Given the description of an element on the screen output the (x, y) to click on. 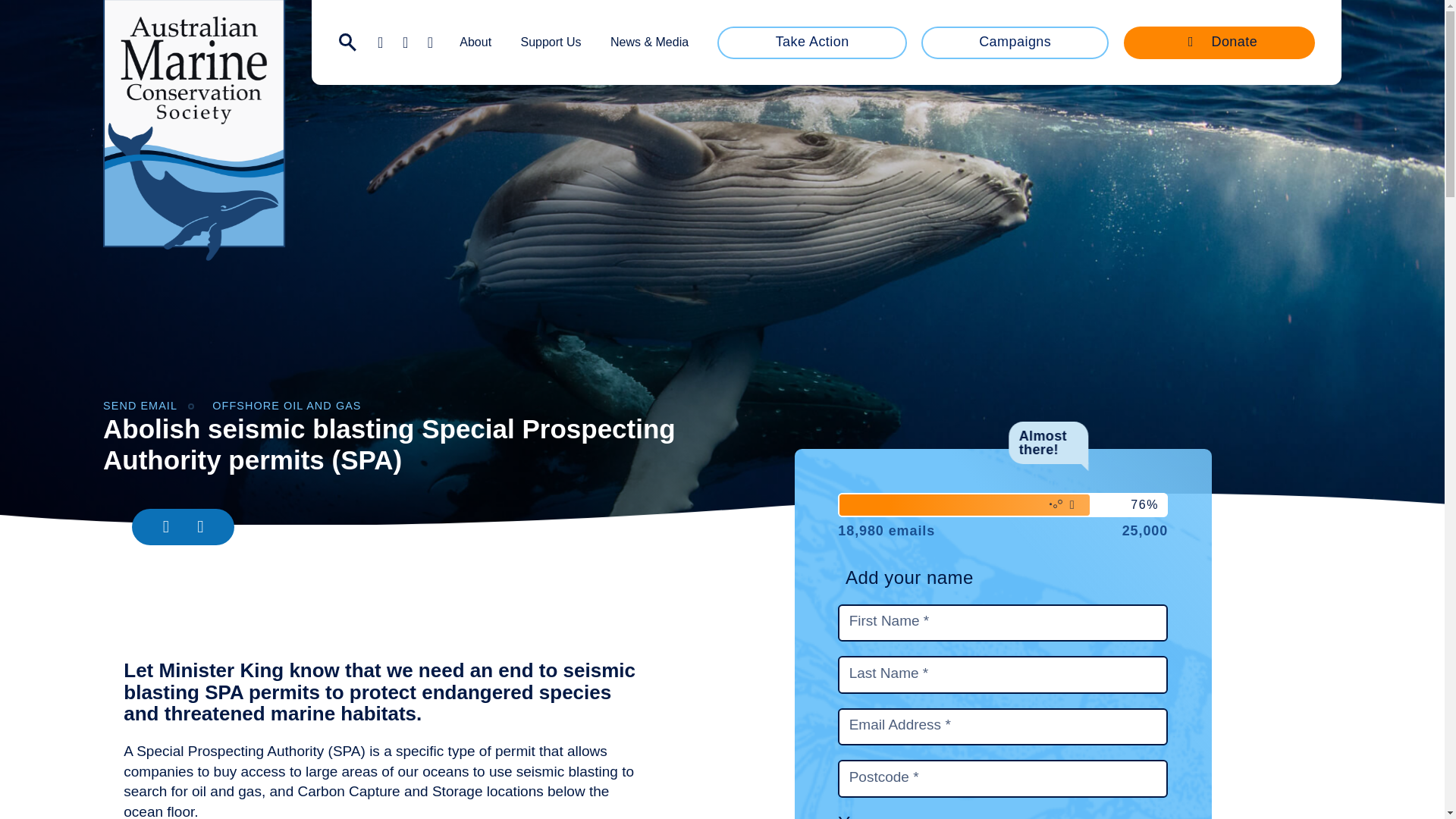
Take Action (812, 41)
Support Us (549, 42)
Campaigns (1014, 41)
About (476, 42)
